Given the description of an element on the screen output the (x, y) to click on. 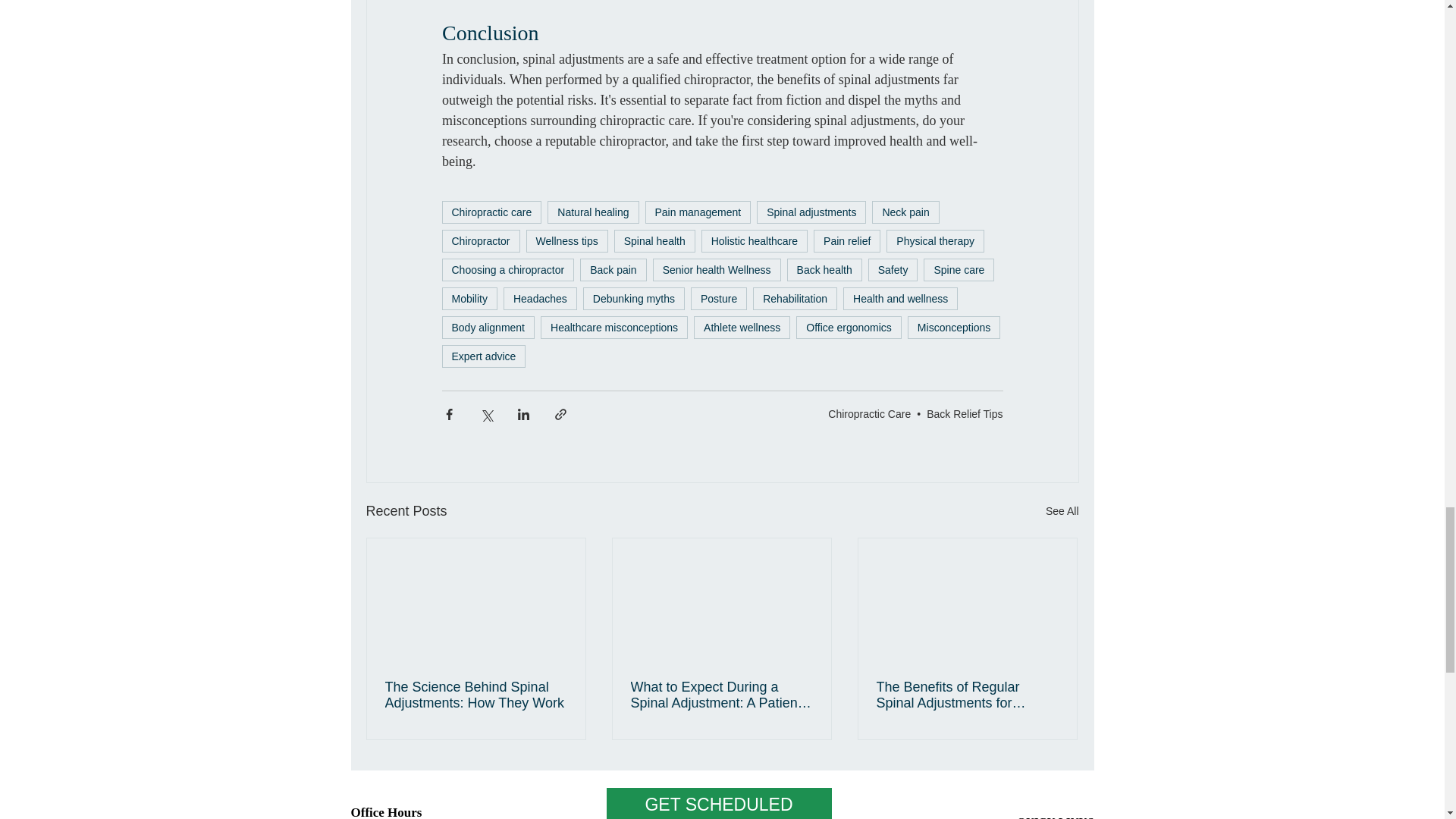
Holistic healthcare (754, 241)
Chiropractor (480, 241)
Spinal adjustments (811, 211)
Neck pain (905, 211)
Pain management (698, 211)
Wellness tips (566, 241)
Chiropractic care (491, 211)
Physical therapy (935, 241)
Spinal health (654, 241)
Natural healing (593, 211)
